Given the description of an element on the screen output the (x, y) to click on. 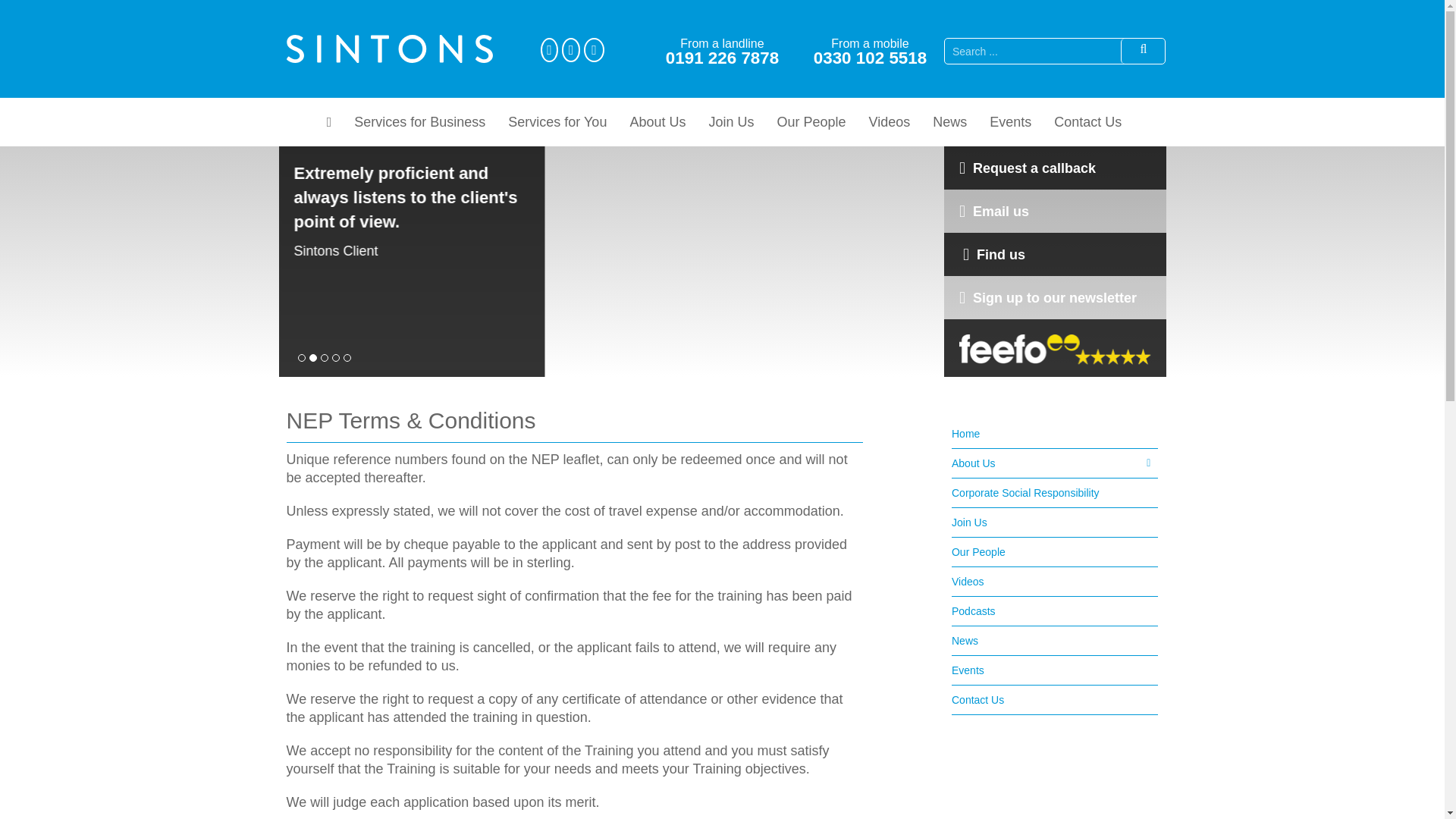
0191 226 7878 (721, 57)
Services for Business (419, 121)
0330 102 5518 (869, 57)
